Given the description of an element on the screen output the (x, y) to click on. 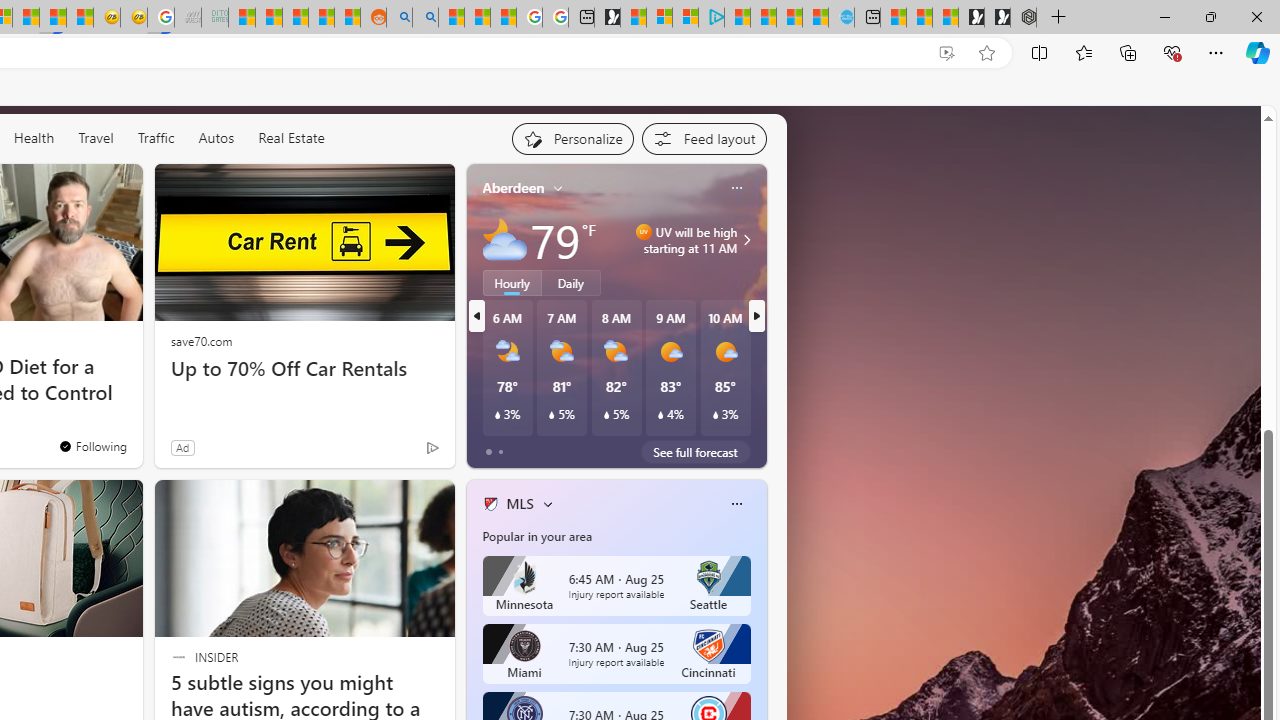
Enhance video (946, 53)
See full forecast (695, 451)
tab-1 (500, 451)
Mostly cloudy (504, 240)
